Given the description of an element on the screen output the (x, y) to click on. 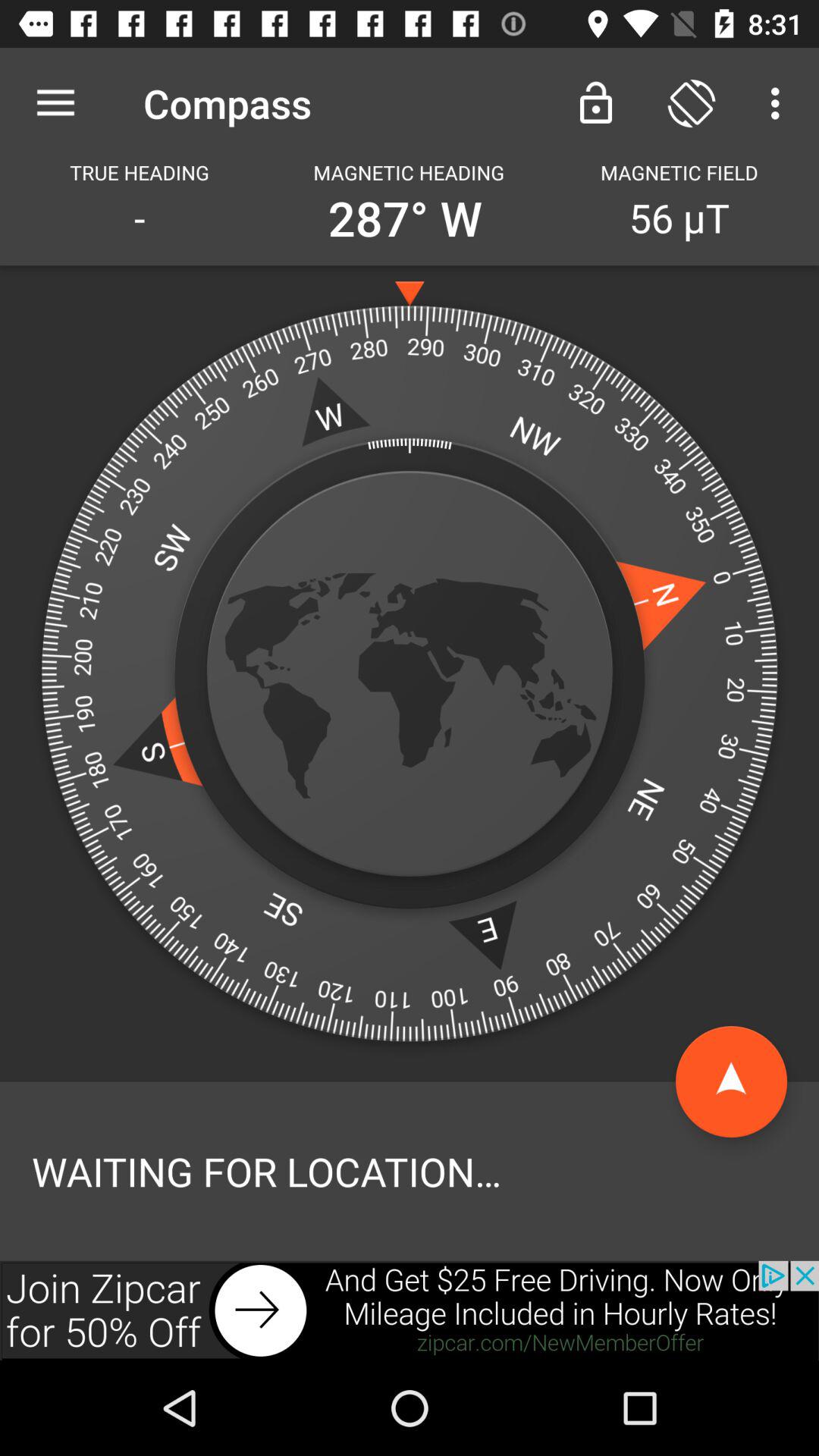
click start option (731, 1081)
